Given the description of an element on the screen output the (x, y) to click on. 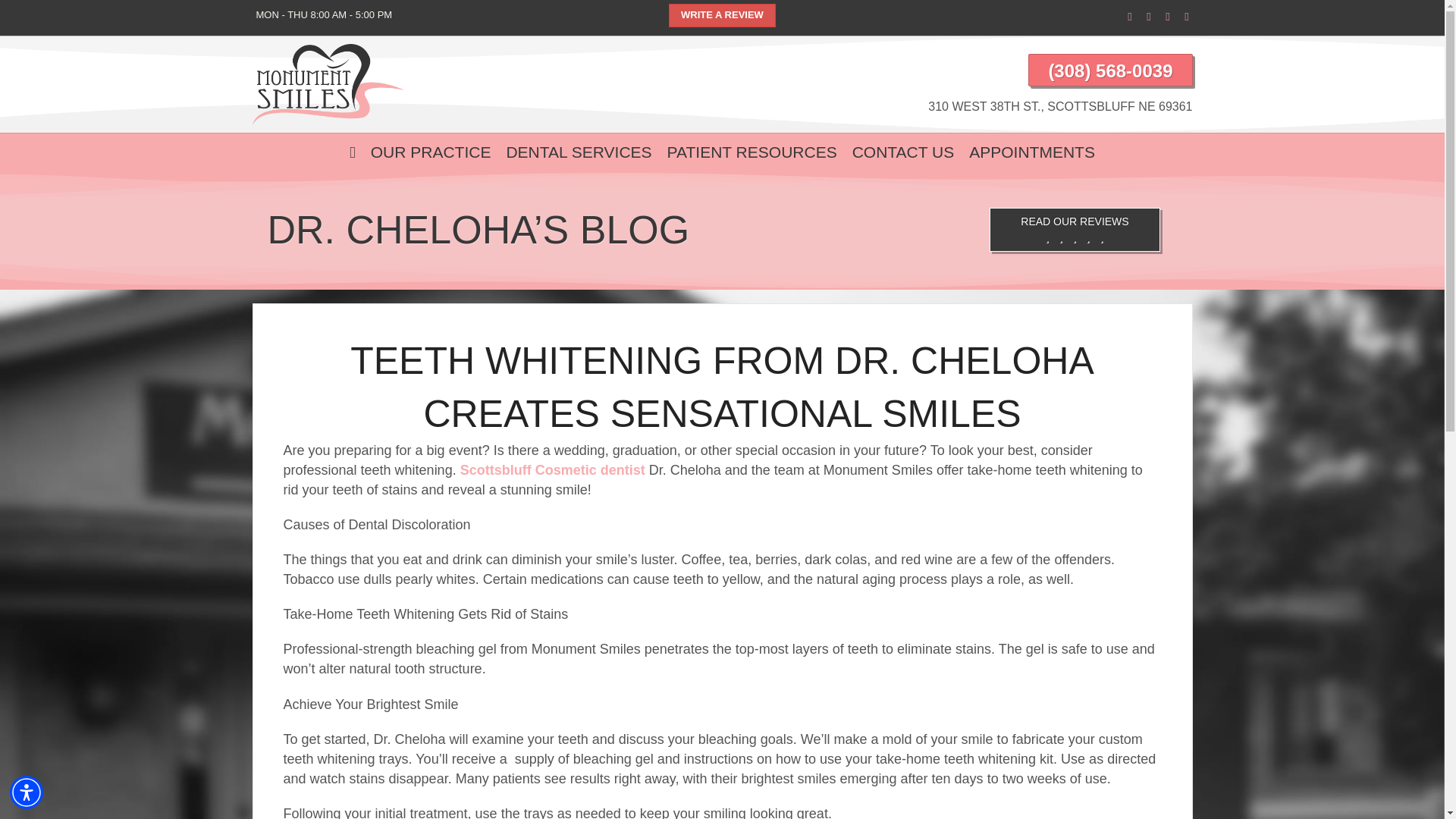
Accessibility Menu (26, 792)
